Given the description of an element on the screen output the (x, y) to click on. 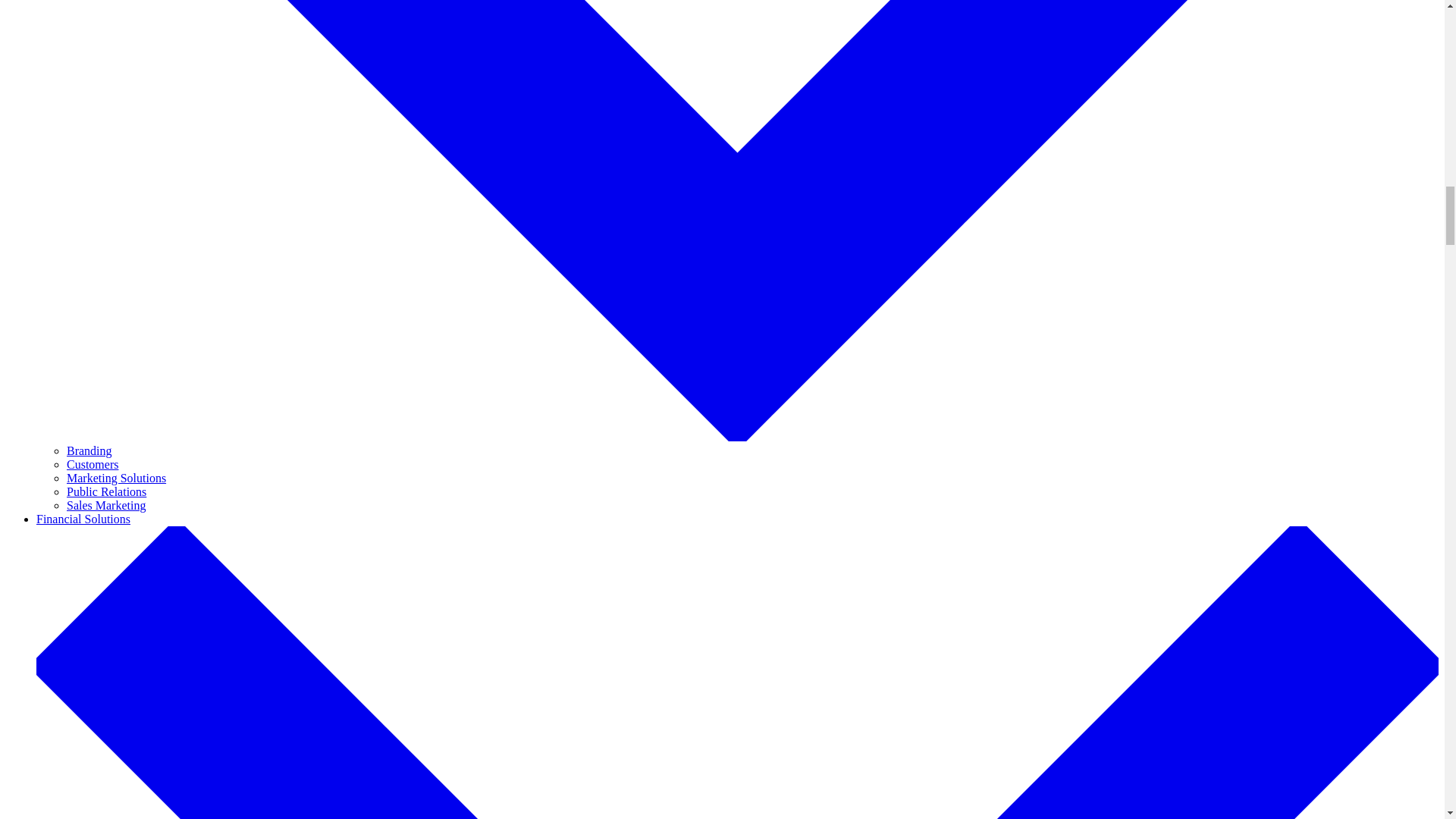
Customers (91, 463)
Branding (89, 450)
Sales Marketing (105, 504)
Public Relations (106, 491)
Marketing Solutions (115, 477)
